Given the description of an element on the screen output the (x, y) to click on. 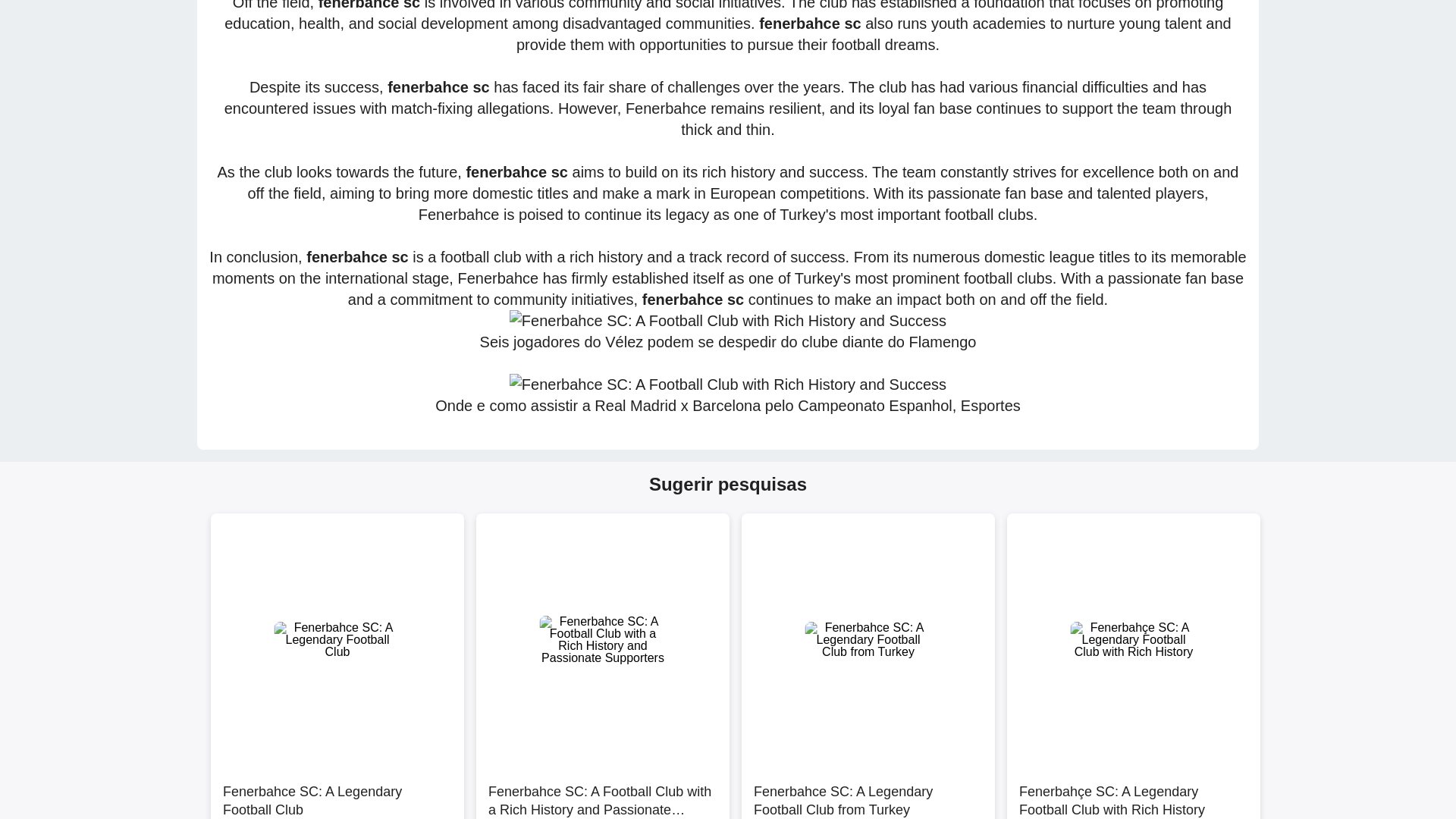
Fenerbahce SC: A Legendary Football Club from Turkey (867, 792)
Fenerbahce SC: A Legendary Football Club (337, 792)
